Given the description of an element on the screen output the (x, y) to click on. 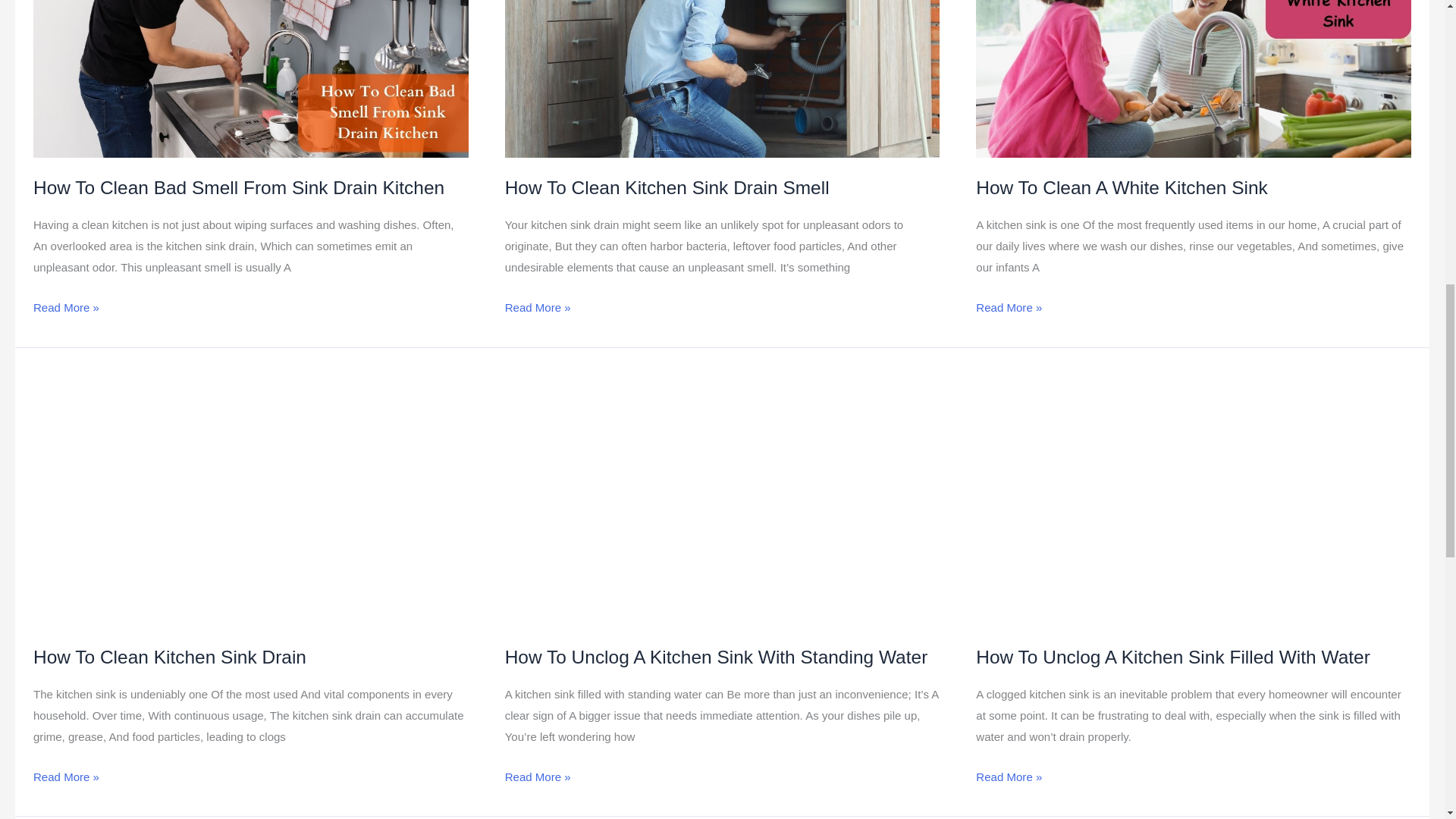
How To Clean A White Kitchen Sink (1120, 187)
How To Clean Kitchen Sink Drain (169, 657)
How To Clean Bad Smell From Sink Drain Kitchen (238, 187)
How To Clean Kitchen Sink Drain Smell (667, 187)
